Given the description of an element on the screen output the (x, y) to click on. 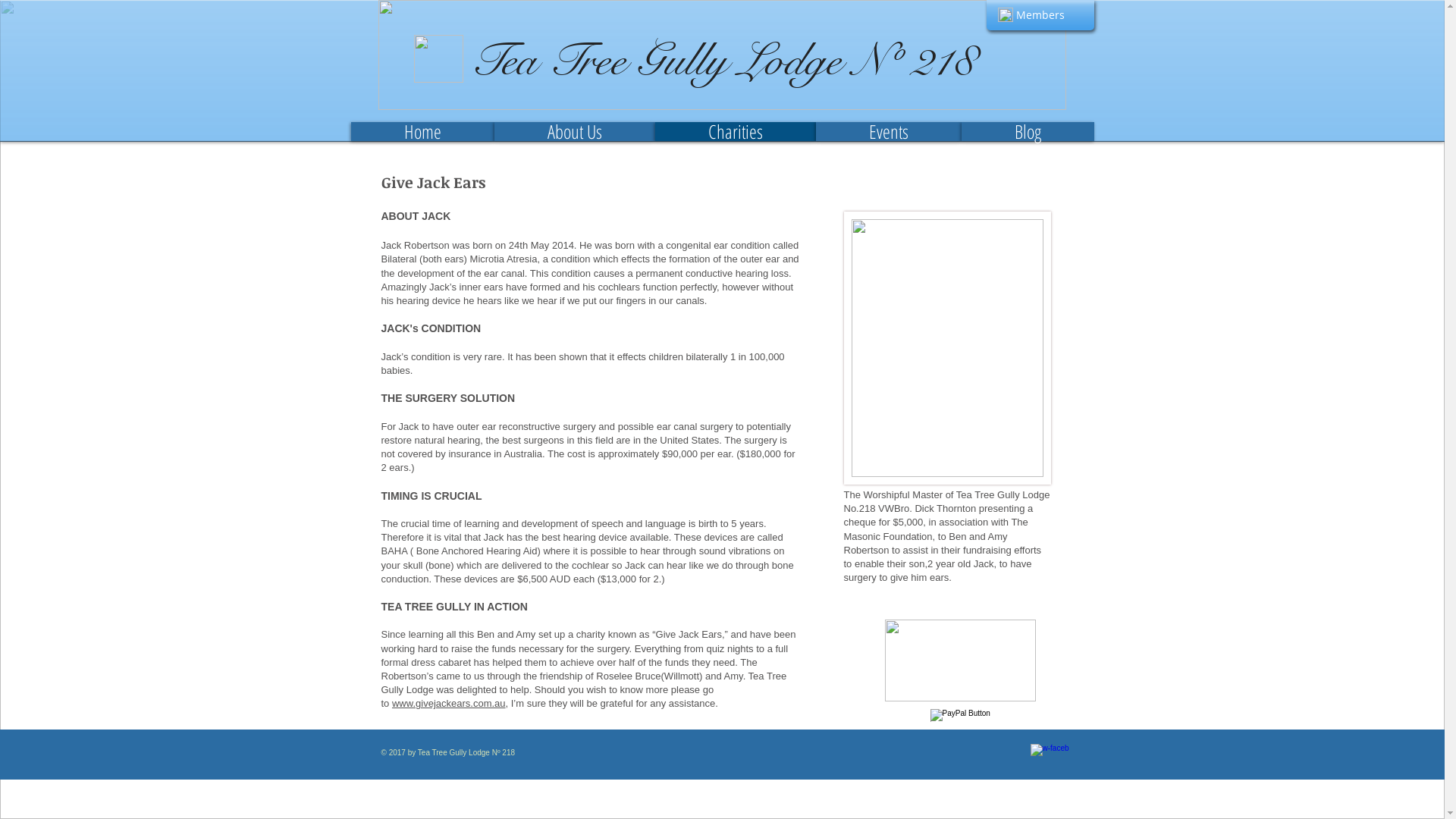
Events Element type: text (888, 131)
www.givejackears.com.au Element type: text (448, 703)
Facebook Like Element type: hover (1064, 98)
Home Element type: text (421, 131)
Members Element type: text (1039, 15)
Blog Element type: text (1027, 131)
About Us Element type: text (574, 131)
01.PNG Element type: hover (946, 347)
Charities Element type: text (735, 131)
